Given the description of an element on the screen output the (x, y) to click on. 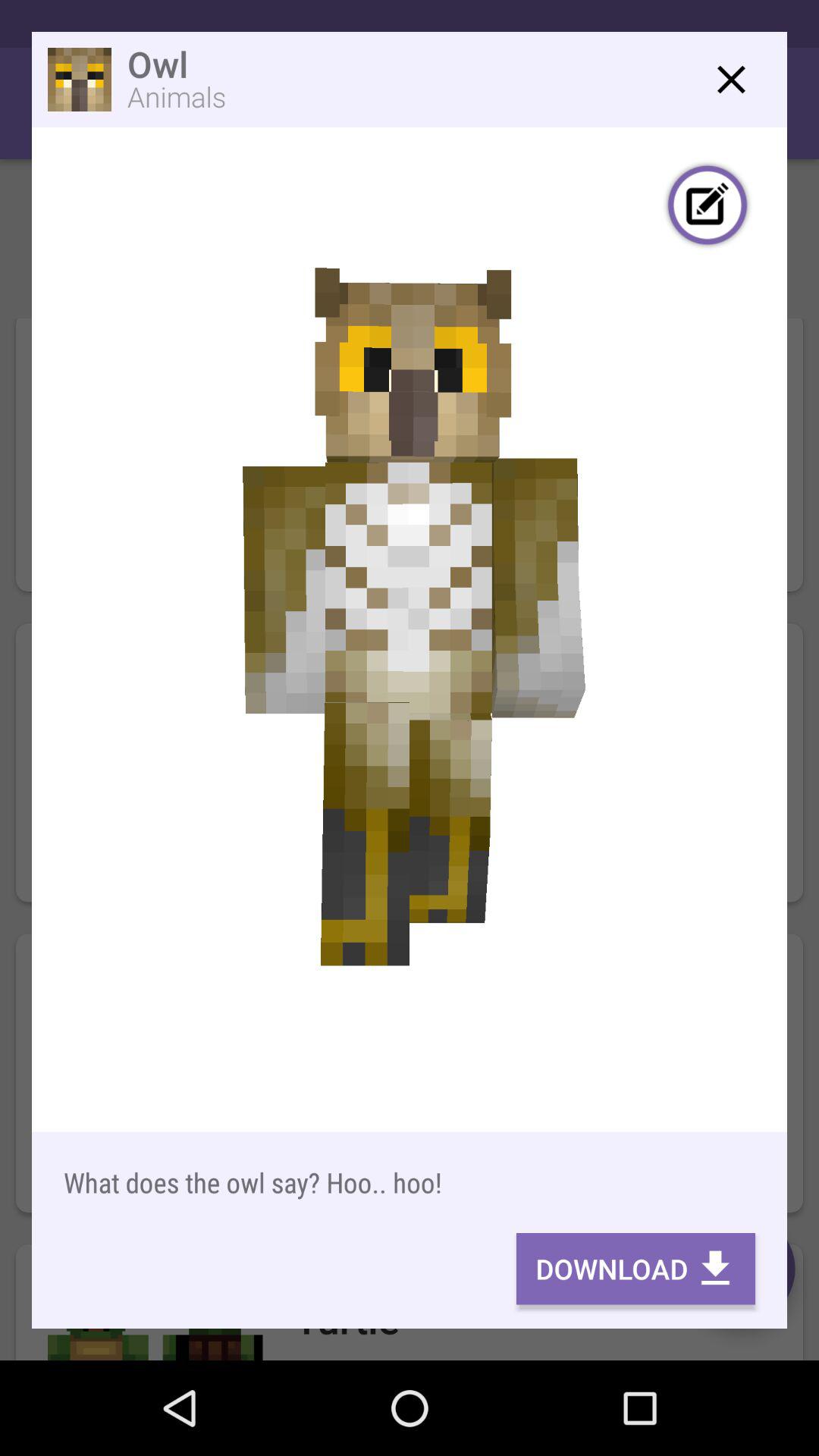
take notes (707, 206)
